Given the description of an element on the screen output the (x, y) to click on. 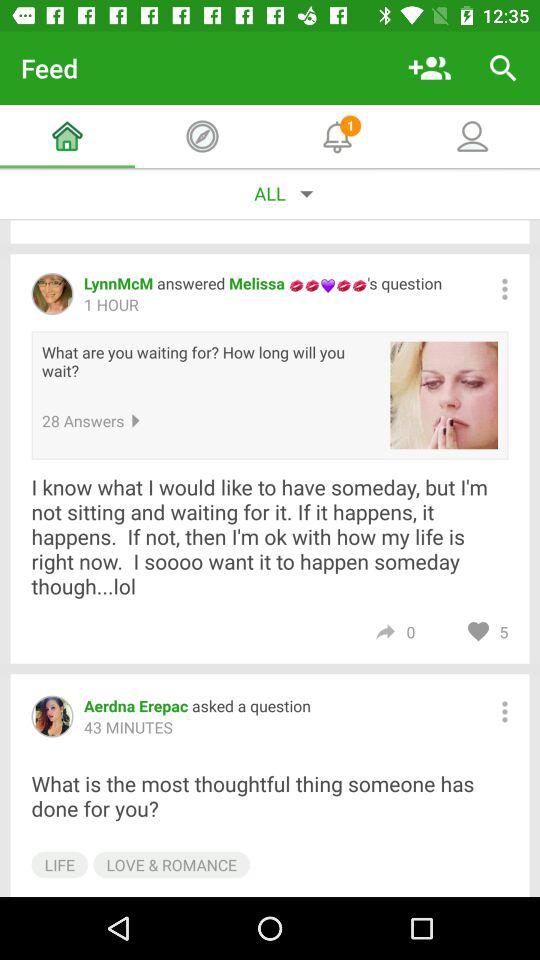
select the item above the i know what item (443, 395)
